Given the description of an element on the screen output the (x, y) to click on. 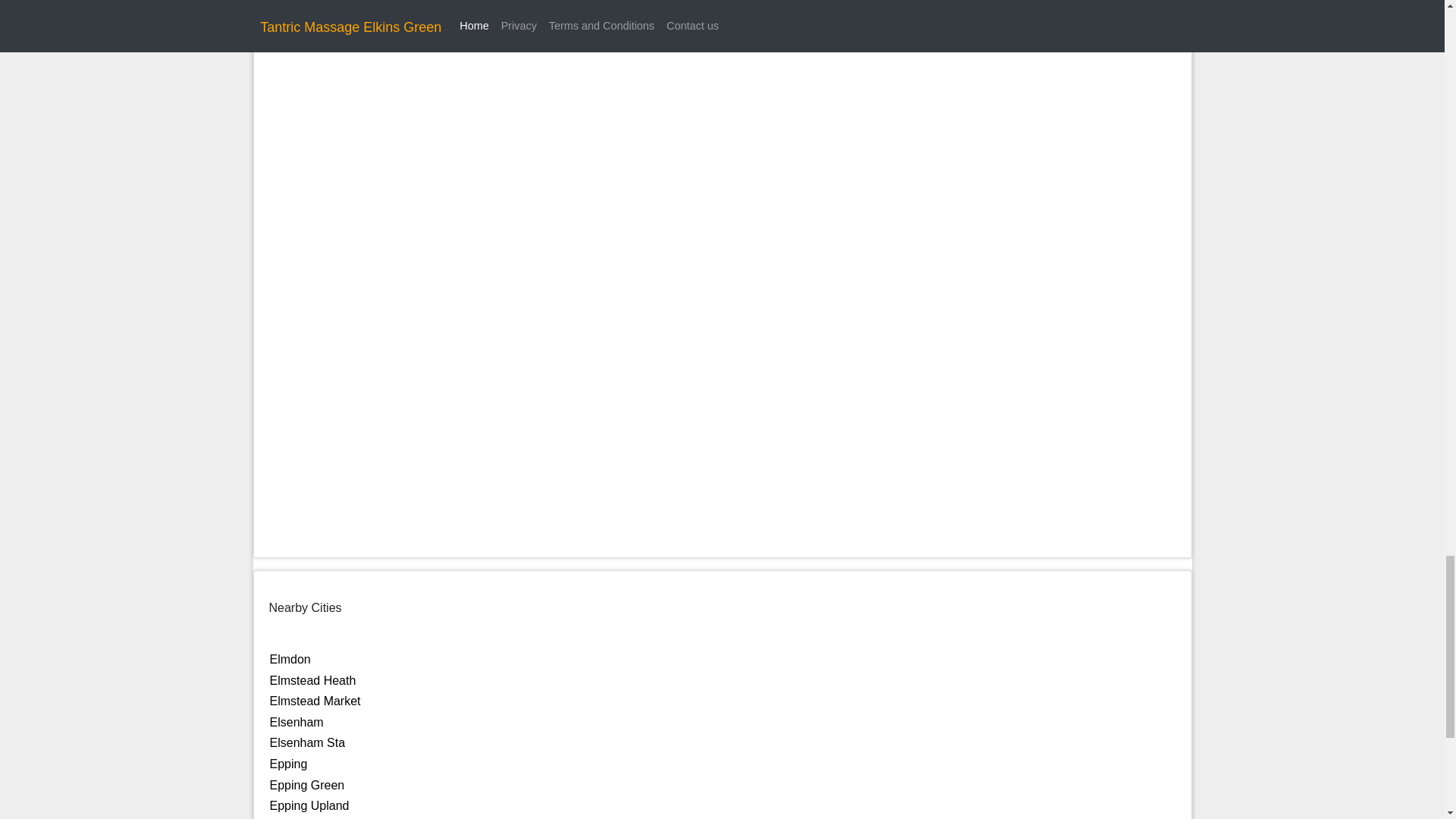
Epping (288, 763)
Epping Green (307, 784)
Elmstead Heath (312, 680)
Elsenham (296, 721)
Epping Upland (309, 805)
Elmstead Market (315, 700)
Elsenham Sta (307, 742)
Elmdon (290, 658)
